Given the description of an element on the screen output the (x, y) to click on. 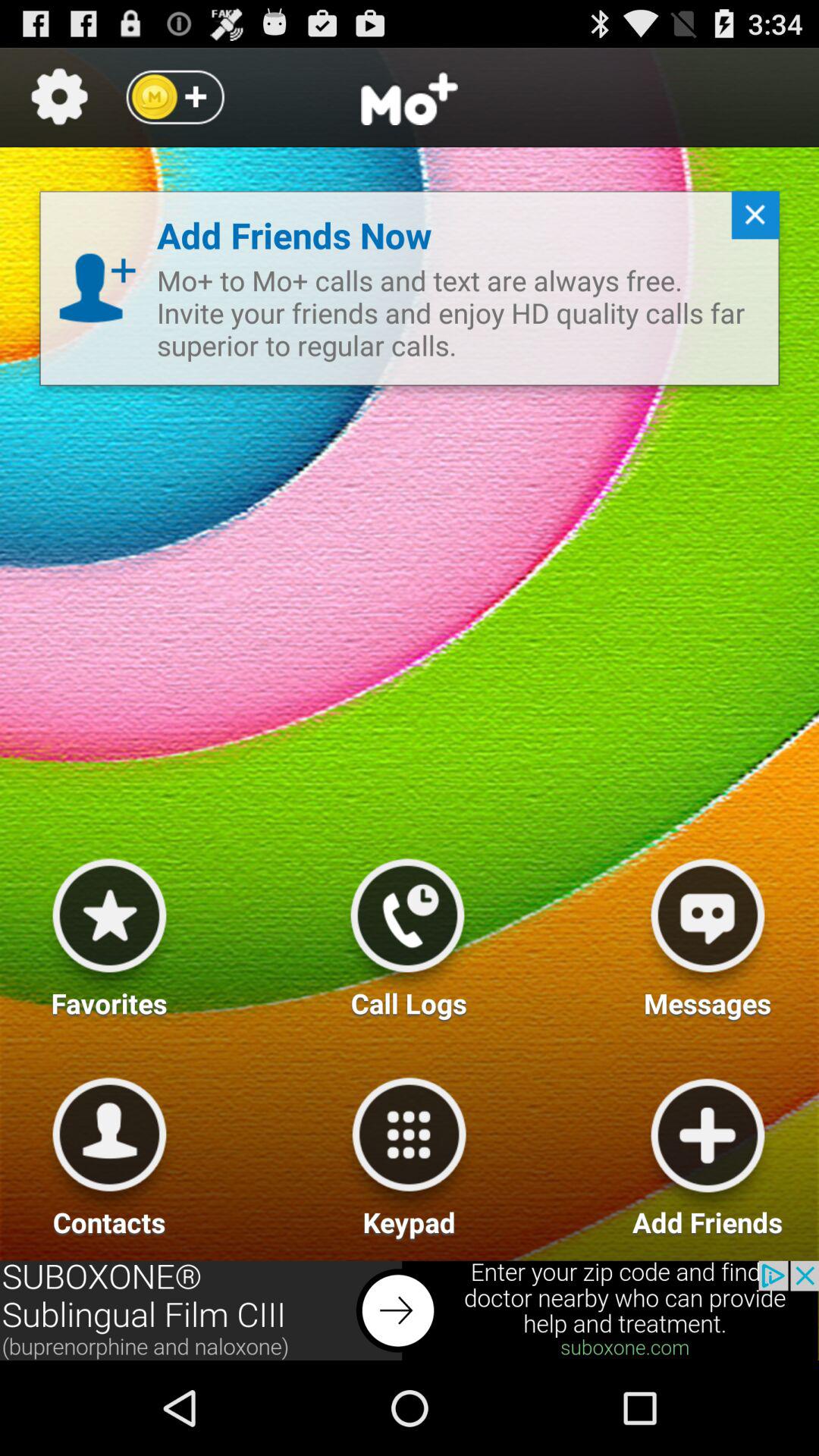
open settings for this app (59, 97)
